Given the description of an element on the screen output the (x, y) to click on. 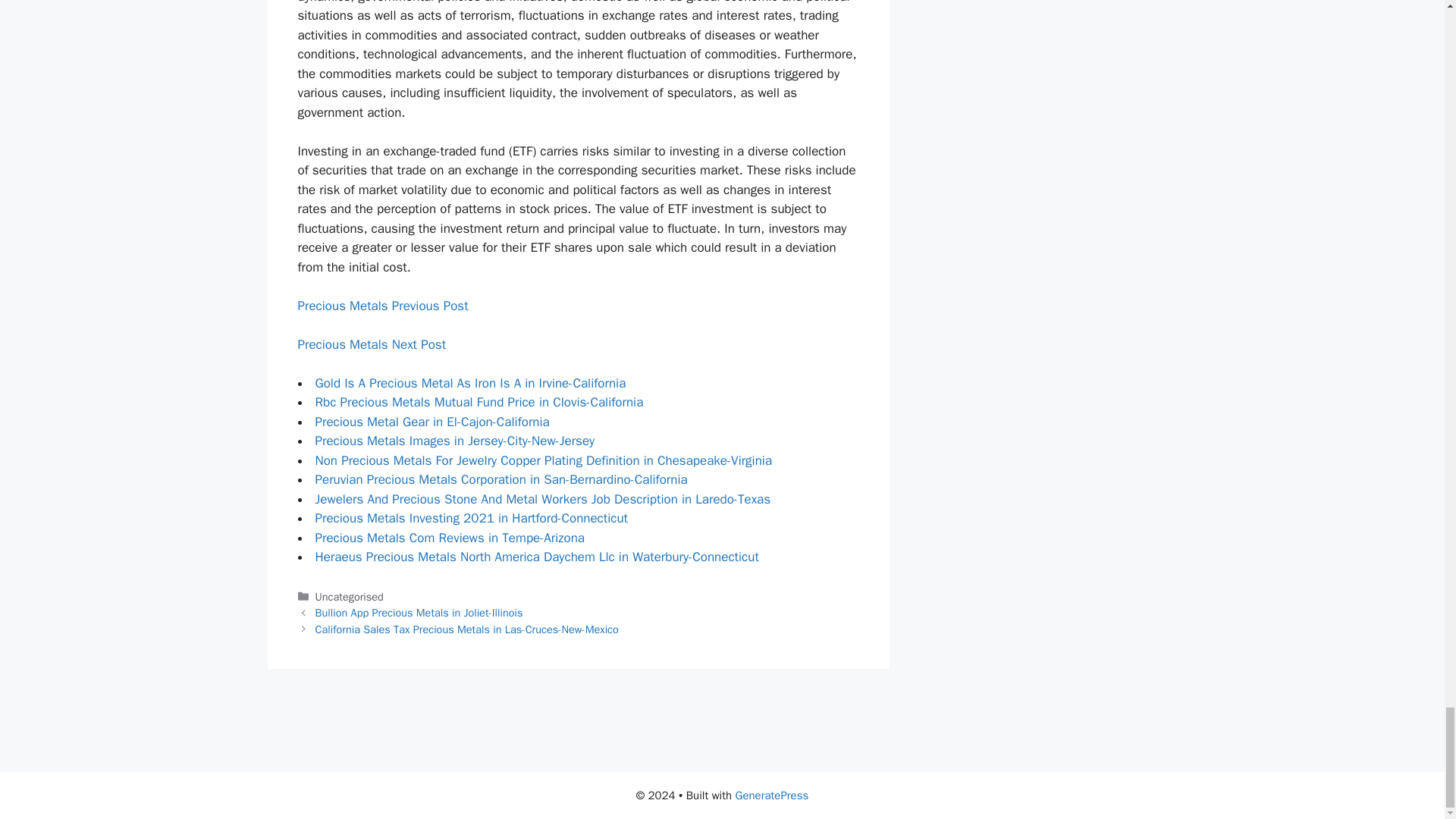
Gold Is A Precious Metal As Iron Is A in Irvine-California (470, 383)
Precious Metals Com Reviews in Tempe-Arizona (450, 537)
Precious Metals Previous Post (382, 305)
GeneratePress (772, 795)
Precious Metals Investing 2021 in Hartford-Connecticut (471, 518)
Precious Metals Investing 2021 in Hartford-Connecticut (471, 518)
Rbc Precious Metals Mutual Fund Price in Clovis-California (479, 401)
Rbc Precious Metals Mutual Fund Price in Clovis-California (479, 401)
Precious Metal Gear in El-Cajon-California (432, 421)
